Given the description of an element on the screen output the (x, y) to click on. 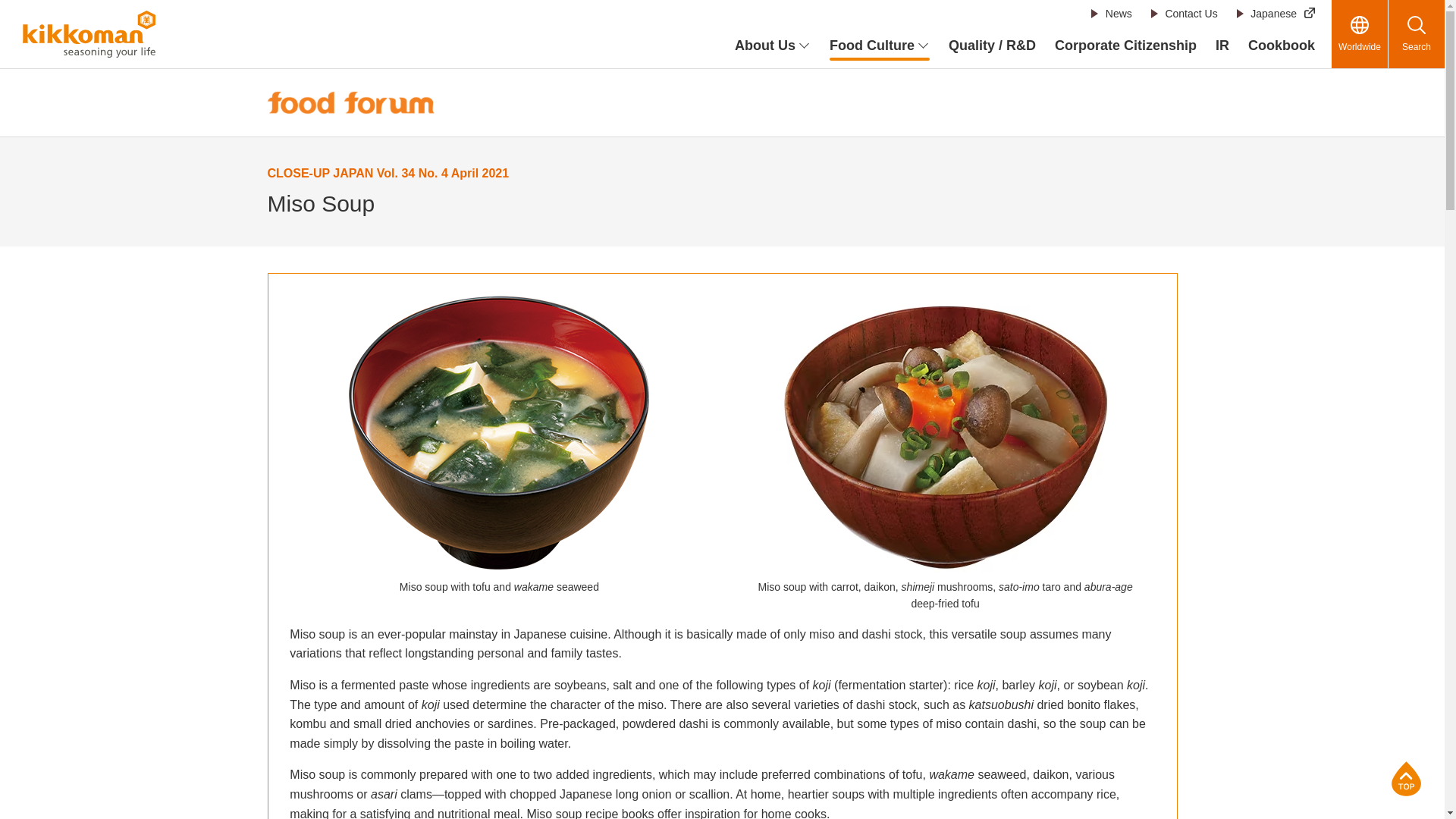
Japanese (1275, 13)
Corporate Citizenship (1125, 45)
Contact Us (1183, 13)
About Us (772, 45)
News (1111, 13)
Food Culture (879, 45)
Cookbook (1280, 45)
